Given the description of an element on the screen output the (x, y) to click on. 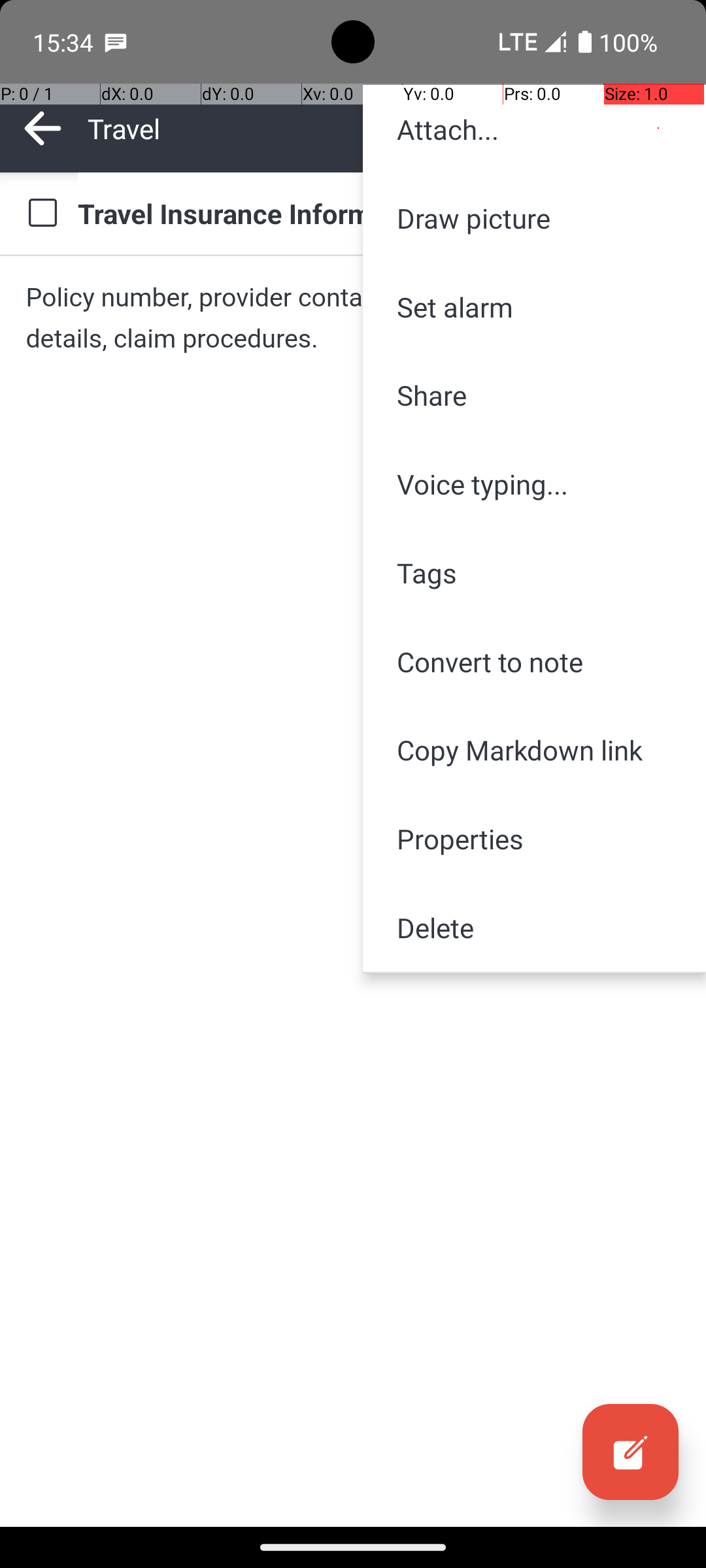
Travel Insurance Information Element type: android.widget.EditText (378, 213)
Attach... Element type: android.widget.TextView (534, 129)
Draw picture Element type: android.widget.TextView (534, 217)
Set alarm Element type: android.widget.TextView (534, 306)
Voice typing... Element type: android.widget.TextView (534, 484)
Convert to note Element type: android.widget.TextView (534, 661)
Copy Markdown link Element type: android.widget.TextView (534, 749)
Properties Element type: android.widget.TextView (534, 838)
Policy number, provider contact information, coverage details, claim procedures. Element type: android.widget.TextView (352, 317)
